Given the description of an element on the screen output the (x, y) to click on. 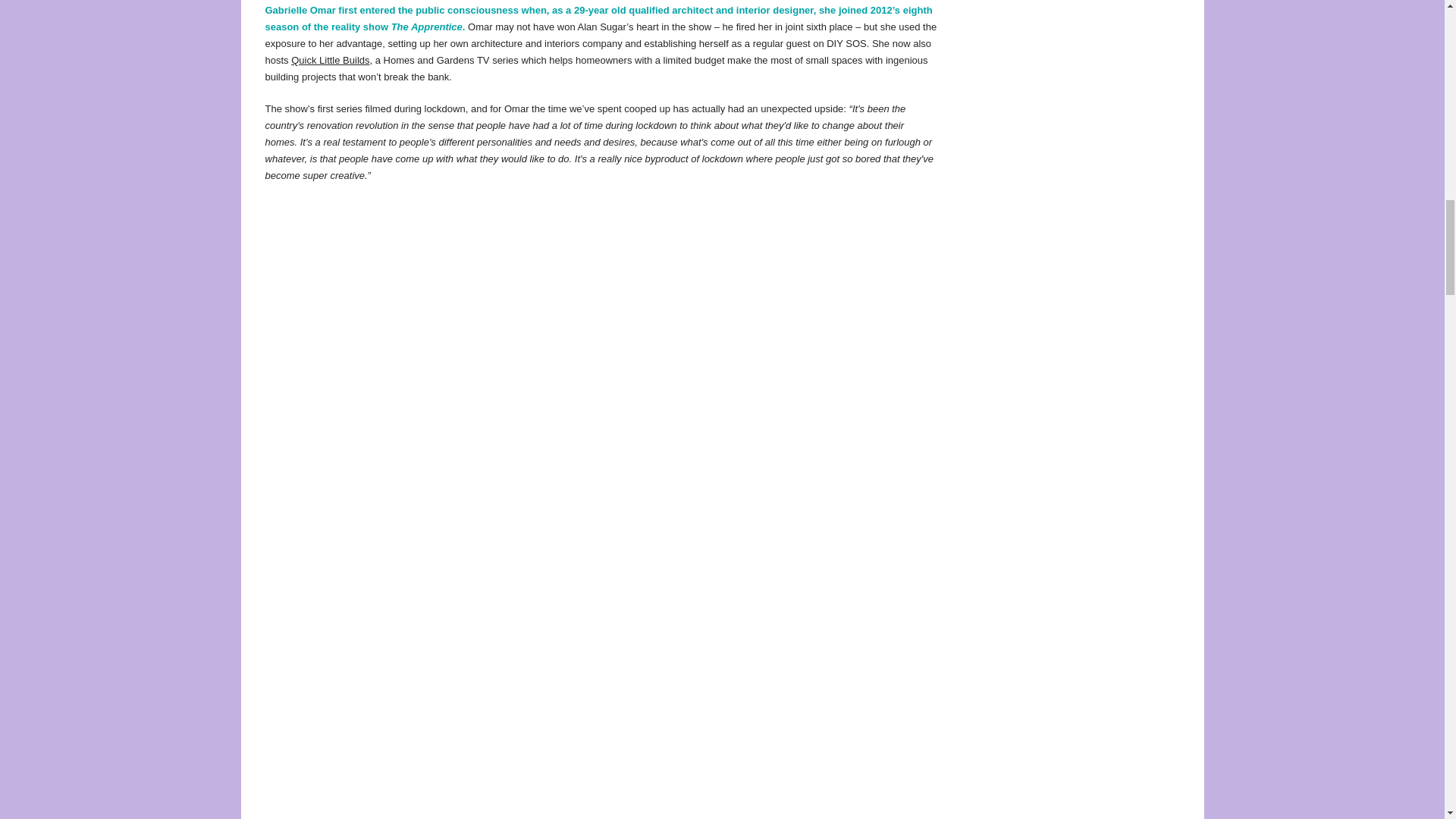
Quick Little Builds (330, 60)
